Given the description of an element on the screen output the (x, y) to click on. 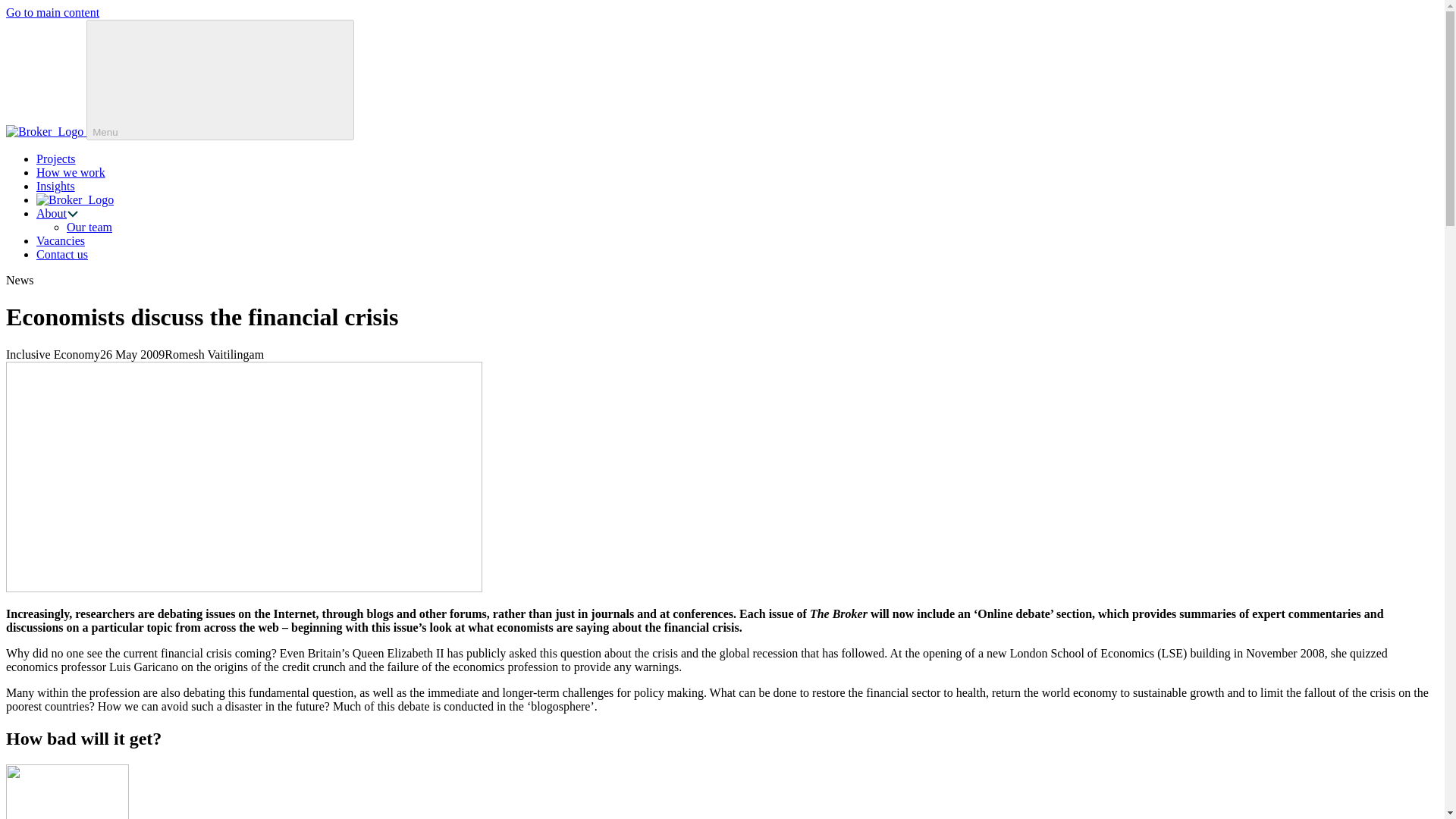
About (51, 213)
Vacancies (60, 240)
Our team (89, 226)
Insights (55, 185)
Projects (55, 158)
Menu (219, 79)
How we work (70, 172)
Go to main content (52, 11)
Contact us (61, 254)
